Given the description of an element on the screen output the (x, y) to click on. 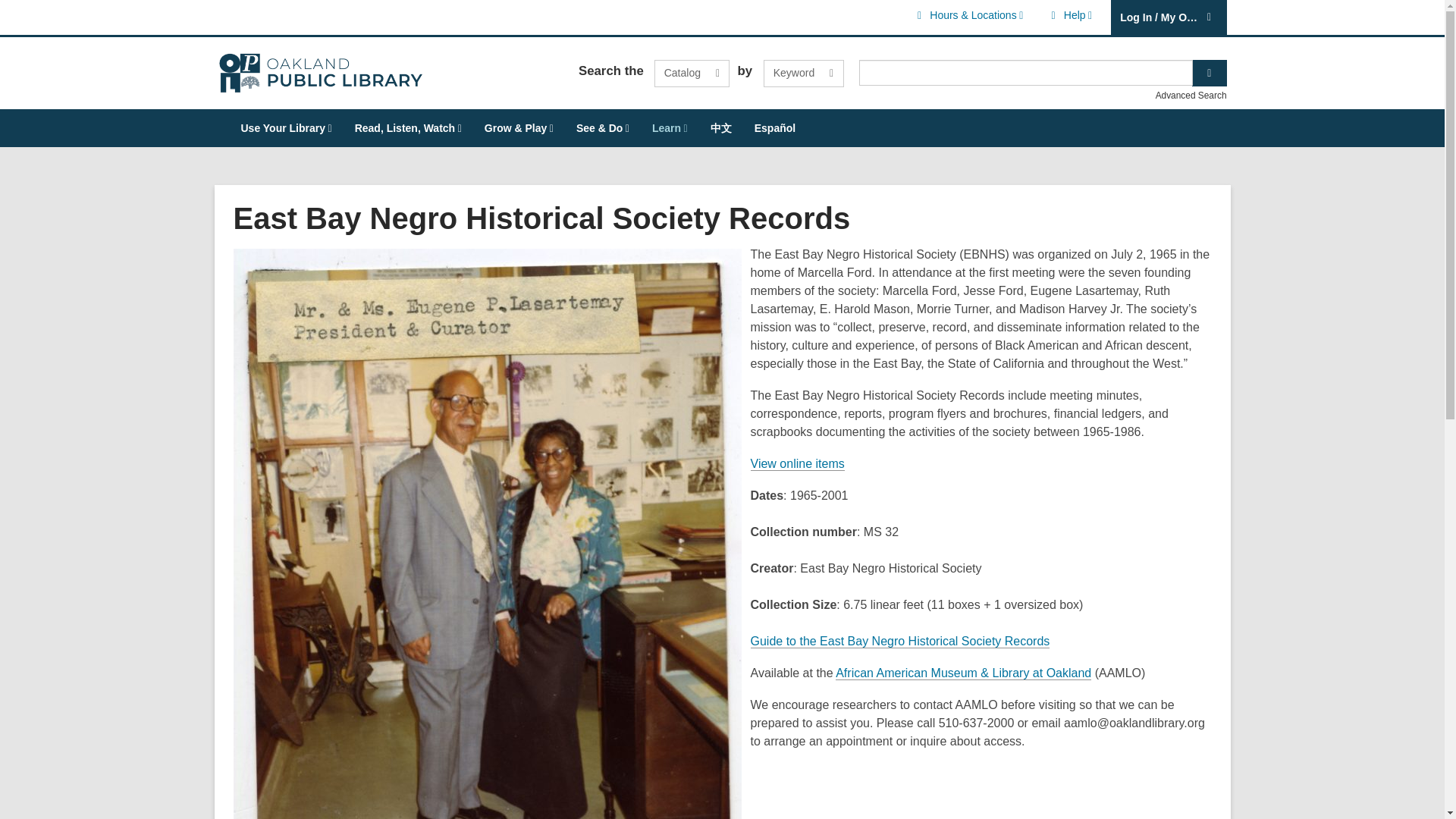
Catalog (691, 72)
Keyword (1069, 15)
